Given the description of an element on the screen output the (x, y) to click on. 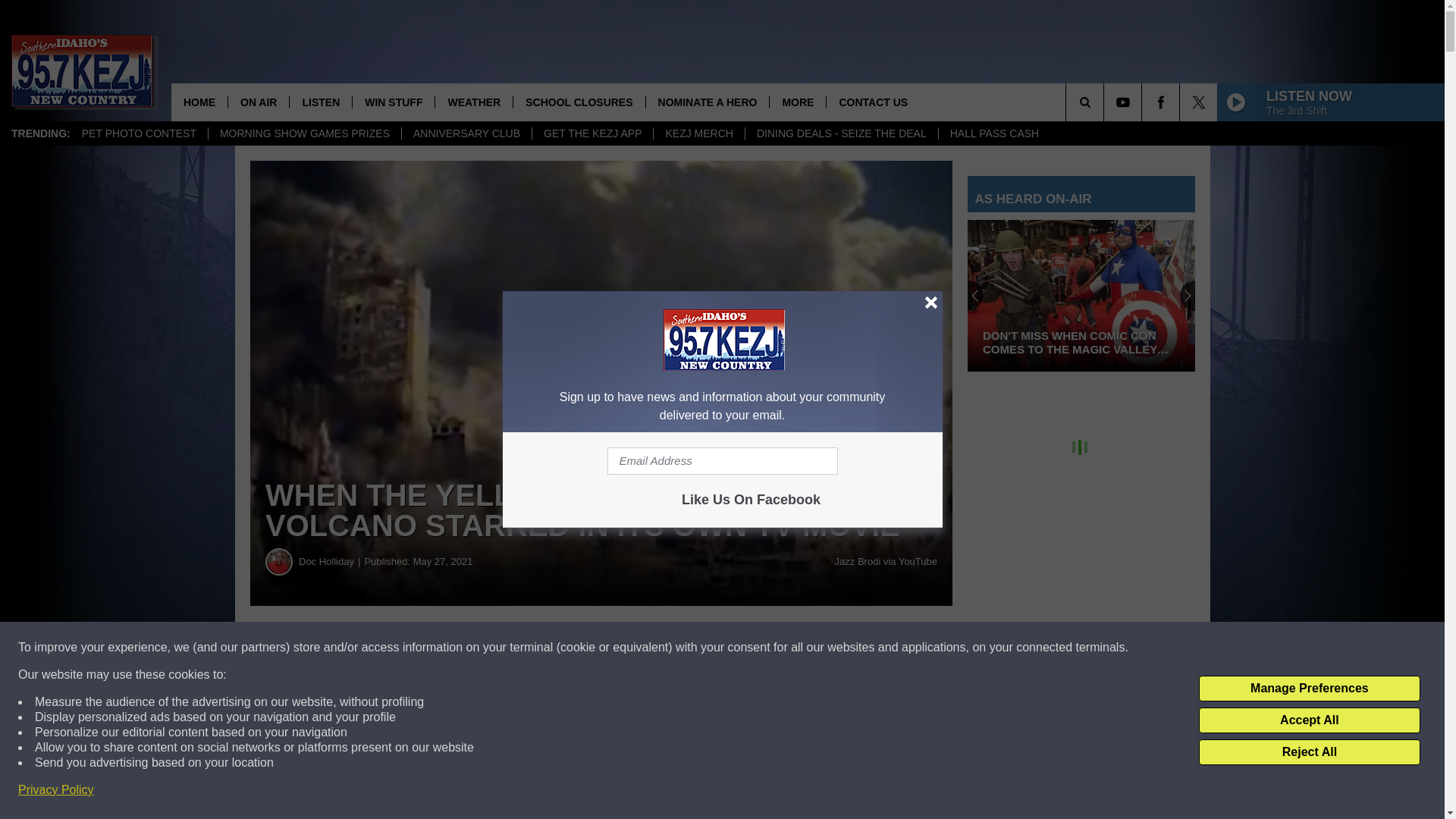
Accept All (1309, 720)
WIN STUFF (392, 102)
Share on Facebook (460, 647)
DINING DEALS - SEIZE THE DEAL (840, 133)
ON AIR (257, 102)
SEARCH (1106, 102)
WEATHER (472, 102)
Manage Preferences (1309, 688)
ANNIVERSARY CLUB (466, 133)
Privacy Policy (55, 789)
Share on Twitter (741, 647)
PET PHOTO CONTEST (138, 133)
HOME (199, 102)
GET THE KEZJ APP (591, 133)
MORNING SHOW GAMES PRIZES (304, 133)
